Given the description of an element on the screen output the (x, y) to click on. 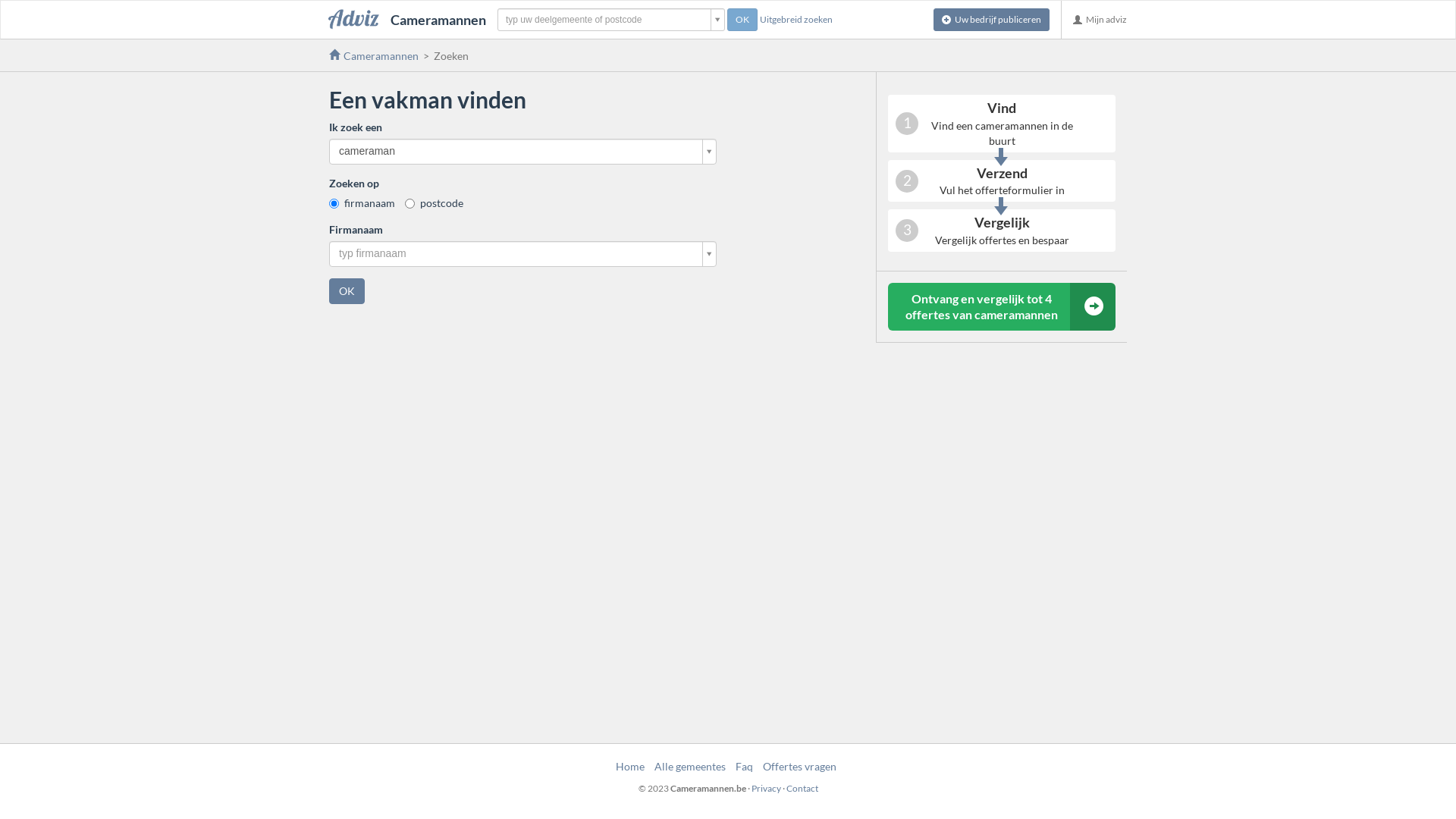
typ uw deelgemeente of postcode Element type: text (610, 19)
Alle gemeentes Element type: text (689, 765)
Mijn adviz Element type: text (1099, 19)
OK Element type: text (742, 19)
Contact Element type: text (801, 787)
cameraman Element type: text (522, 151)
Uw bedrijf publiceren Element type: text (991, 19)
typ firmanaam Element type: text (522, 253)
Offertes vragen Element type: text (799, 765)
Home Element type: text (629, 765)
Cameramannen Element type: text (407, 19)
Faq Element type: text (744, 765)
OK Element type: text (346, 291)
Ontvang en vergelijk tot 4 offertes van cameramannen Element type: text (1001, 306)
Uitgebreid zoeken Element type: text (795, 19)
Privacy Element type: text (765, 787)
Cameramannen Element type: text (373, 55)
